Given the description of an element on the screen output the (x, y) to click on. 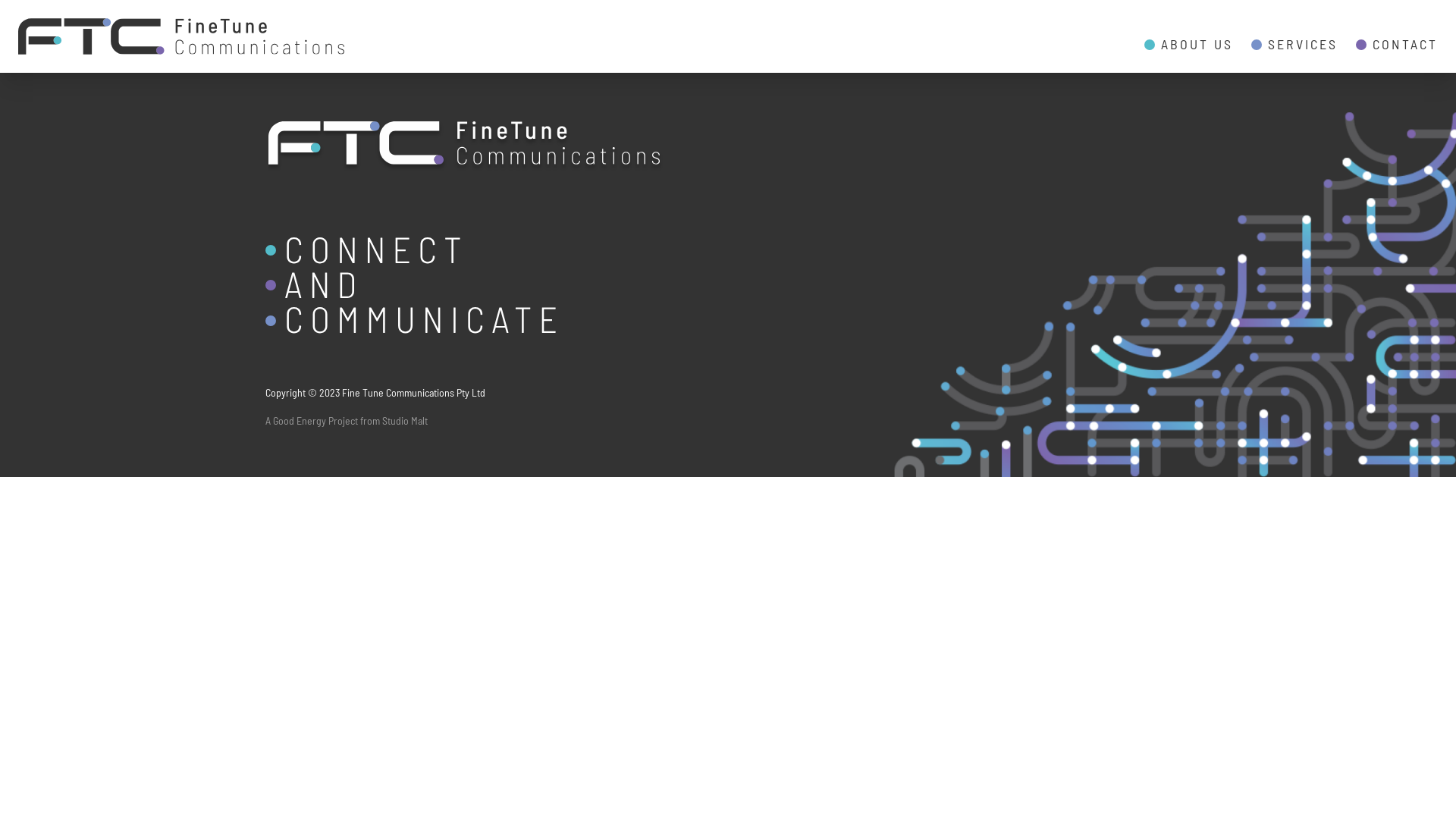
ABOUT US Element type: text (1188, 44)
A Good Energy Project from Studio Malt Element type: text (346, 420)
SERVICES Element type: text (1294, 44)
CONTACT Element type: text (1396, 44)
